Given the description of an element on the screen output the (x, y) to click on. 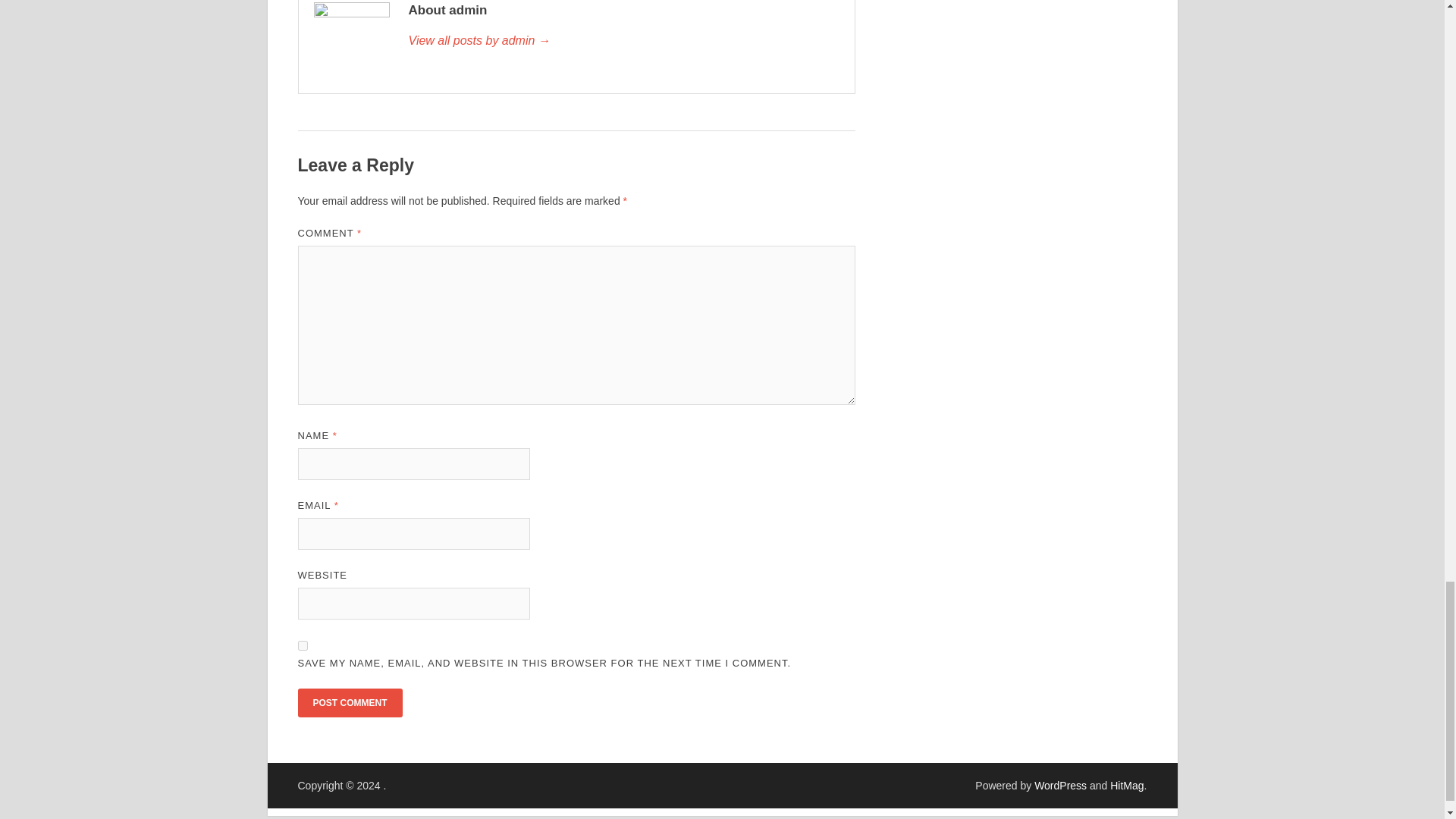
Post Comment (349, 702)
HitMag WordPress Theme (1125, 785)
WordPress (1059, 785)
yes (302, 645)
admin (622, 40)
